Given the description of an element on the screen output the (x, y) to click on. 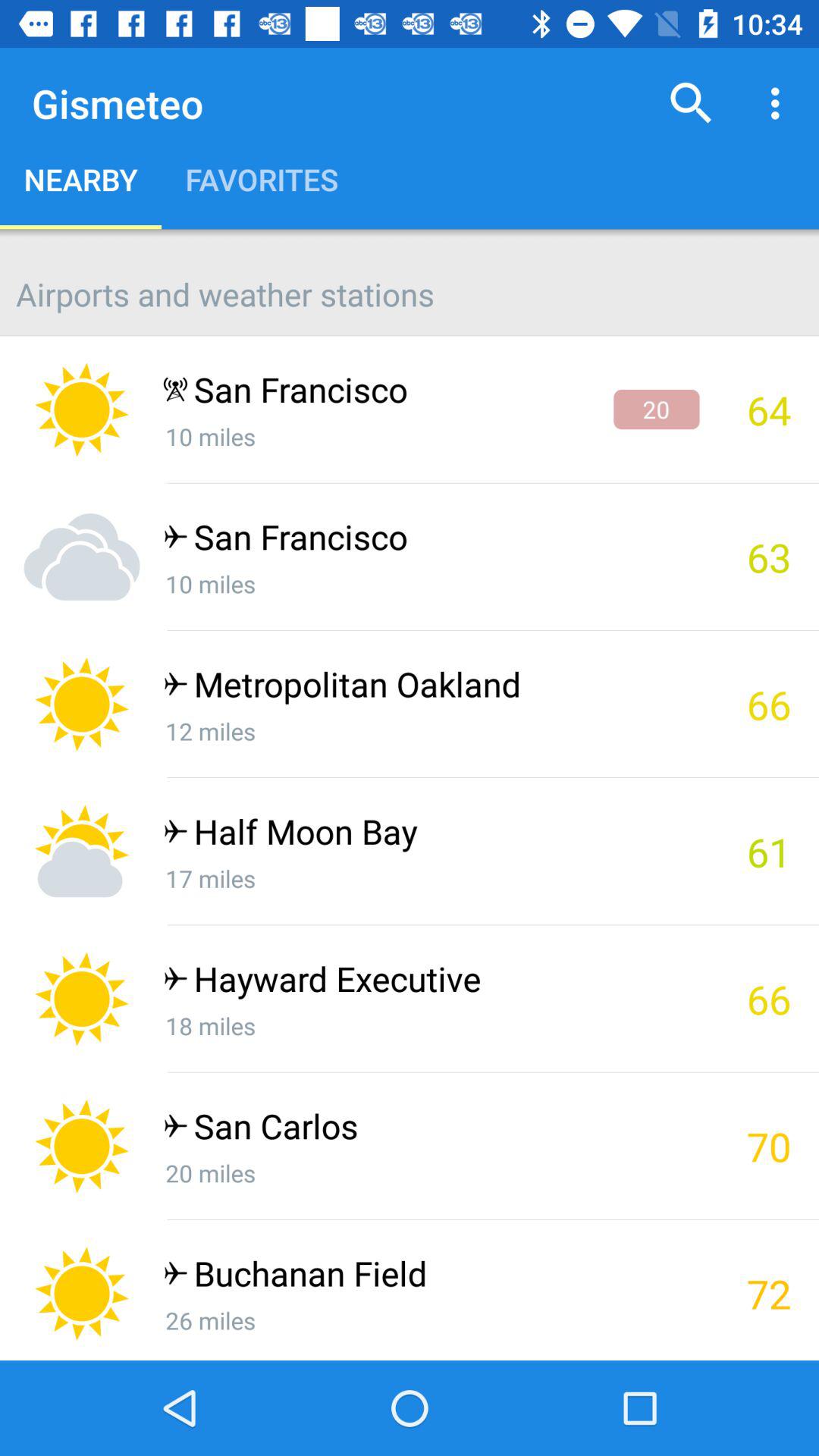
select the app next to the 70 item (431, 1129)
